Given the description of an element on the screen output the (x, y) to click on. 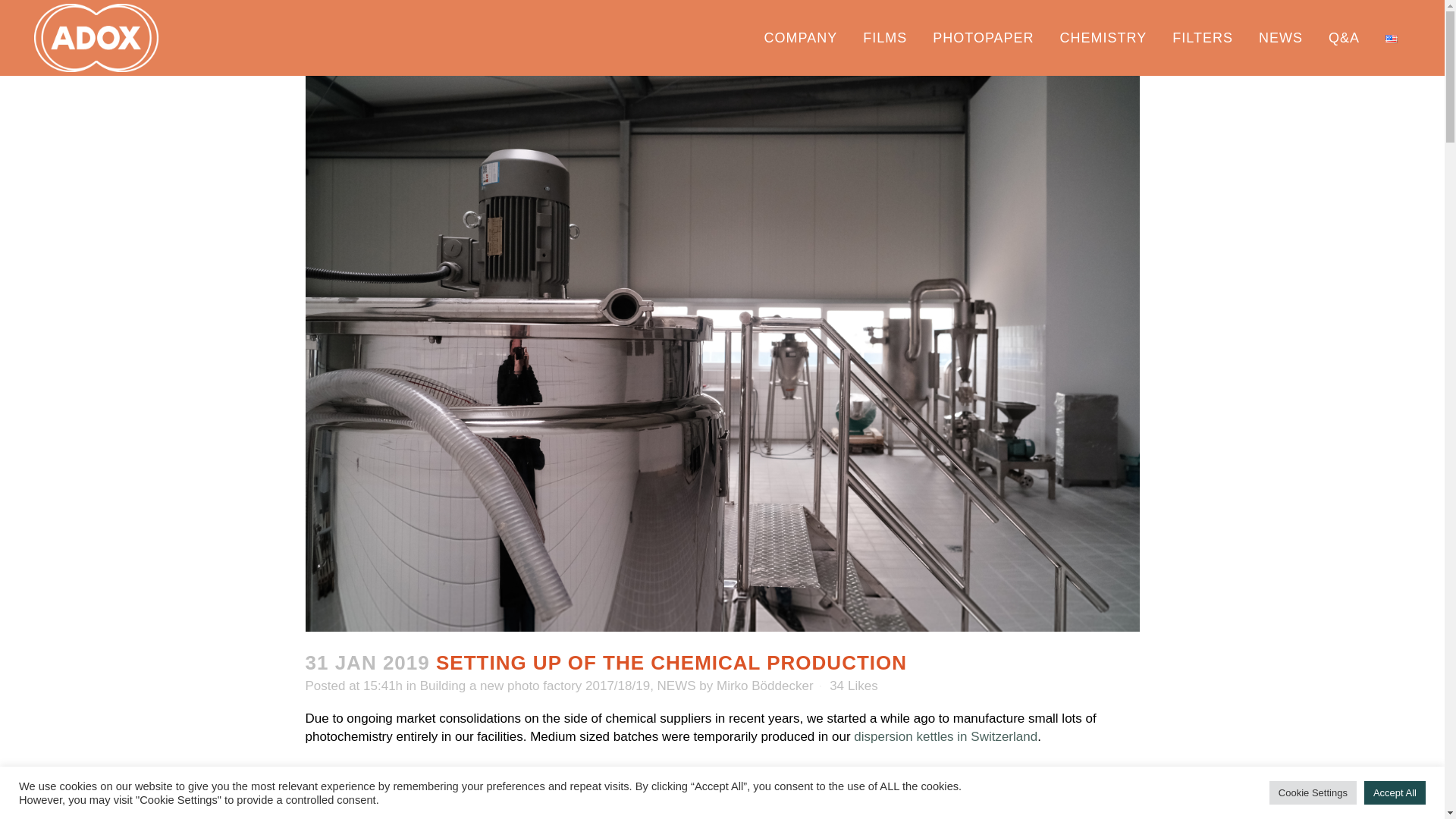
CHEMISTRY (1103, 38)
PHOTOPAPER (983, 38)
COMPANY (800, 38)
FILMS (885, 38)
Like this (853, 685)
